Given the description of an element on the screen output the (x, y) to click on. 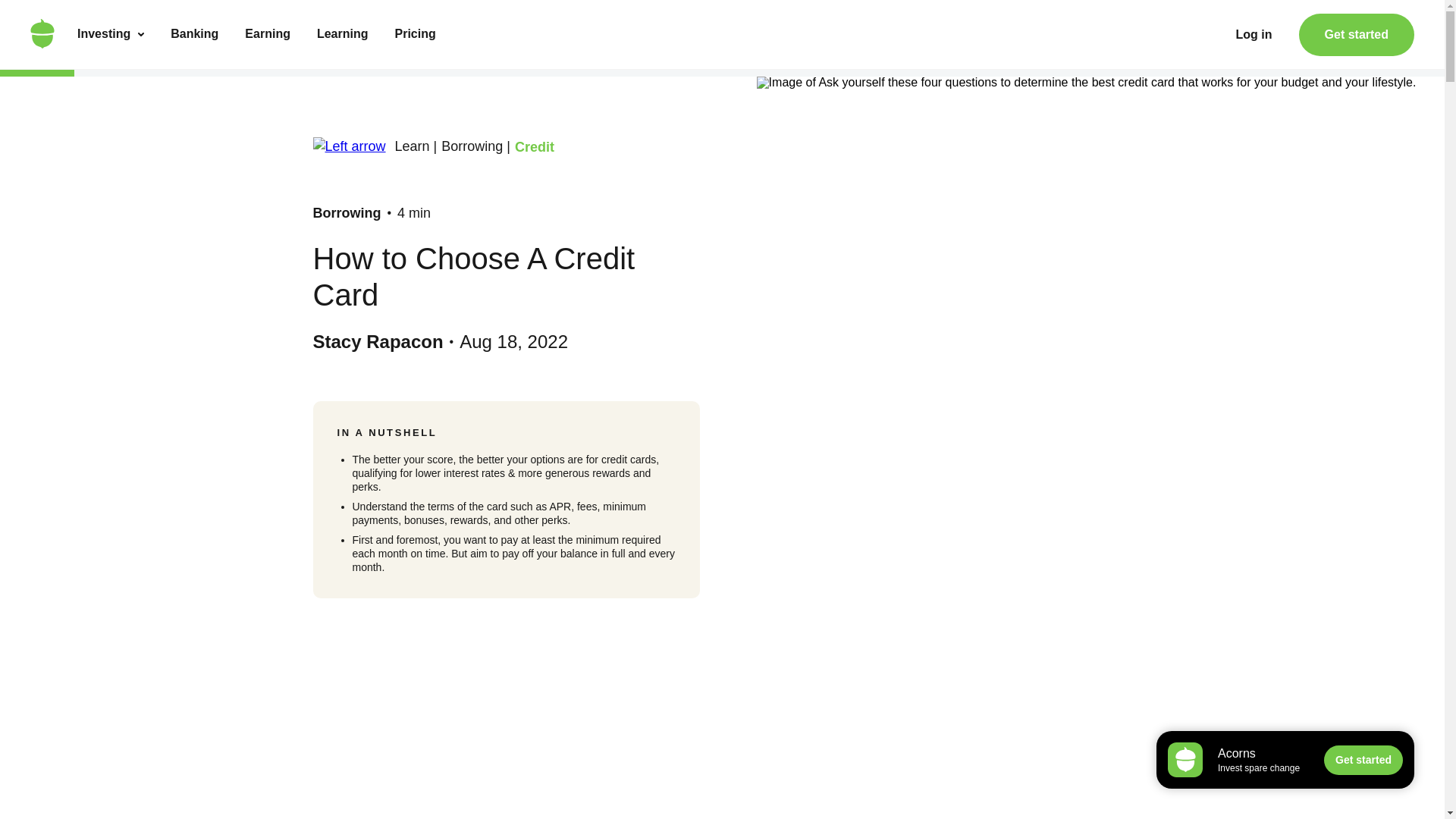
Stacy Rapacon (377, 341)
Credit (534, 147)
Borrowing (346, 212)
Get started (1355, 34)
